Given the description of an element on the screen output the (x, y) to click on. 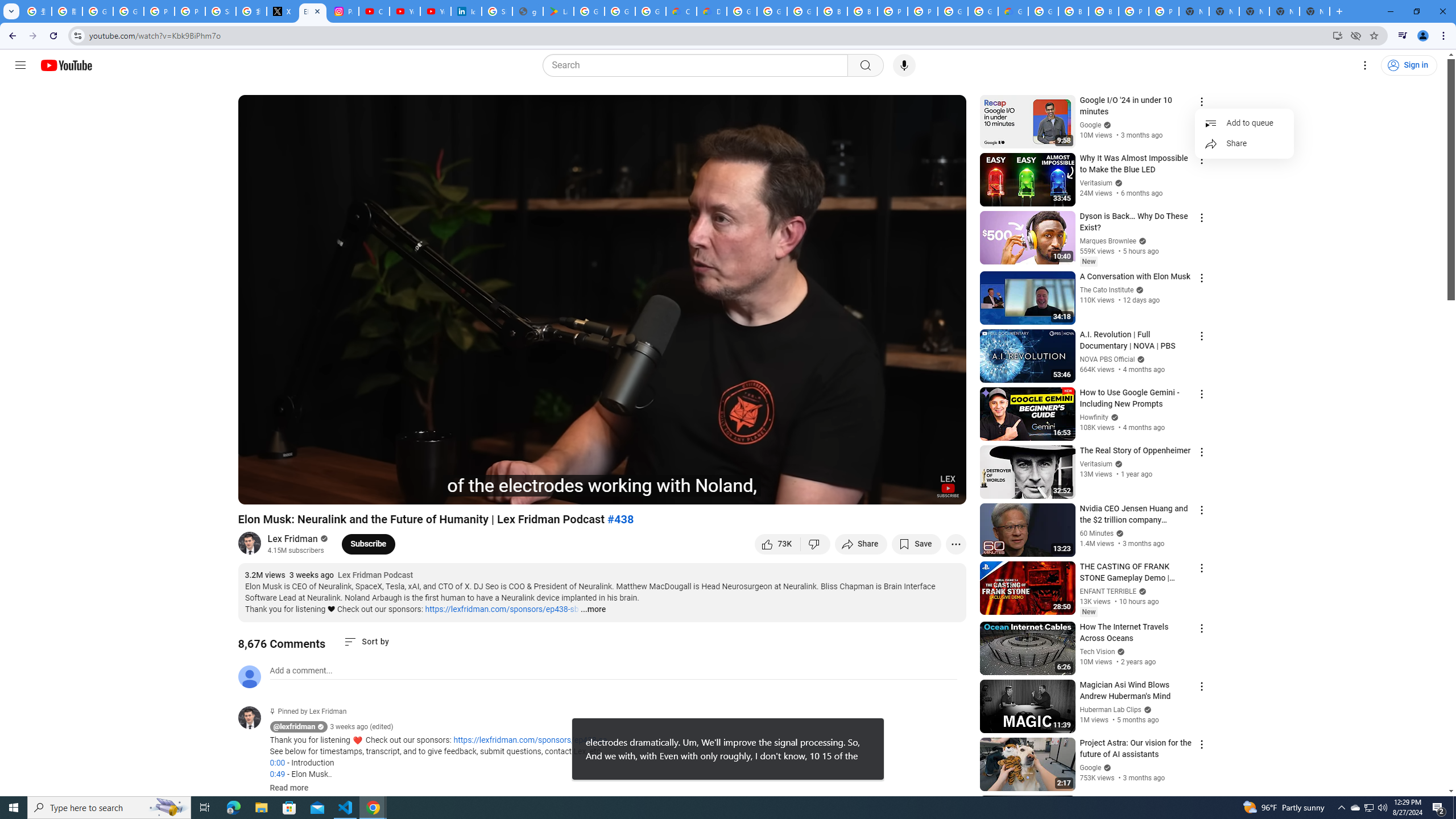
0:49 (277, 773)
like this video along with 73,133 other people (777, 543)
Share (1243, 143)
Dislike this video (815, 543)
Add to queue (1243, 123)
Miniplayer (i) (890, 490)
